Given the description of an element on the screen output the (x, y) to click on. 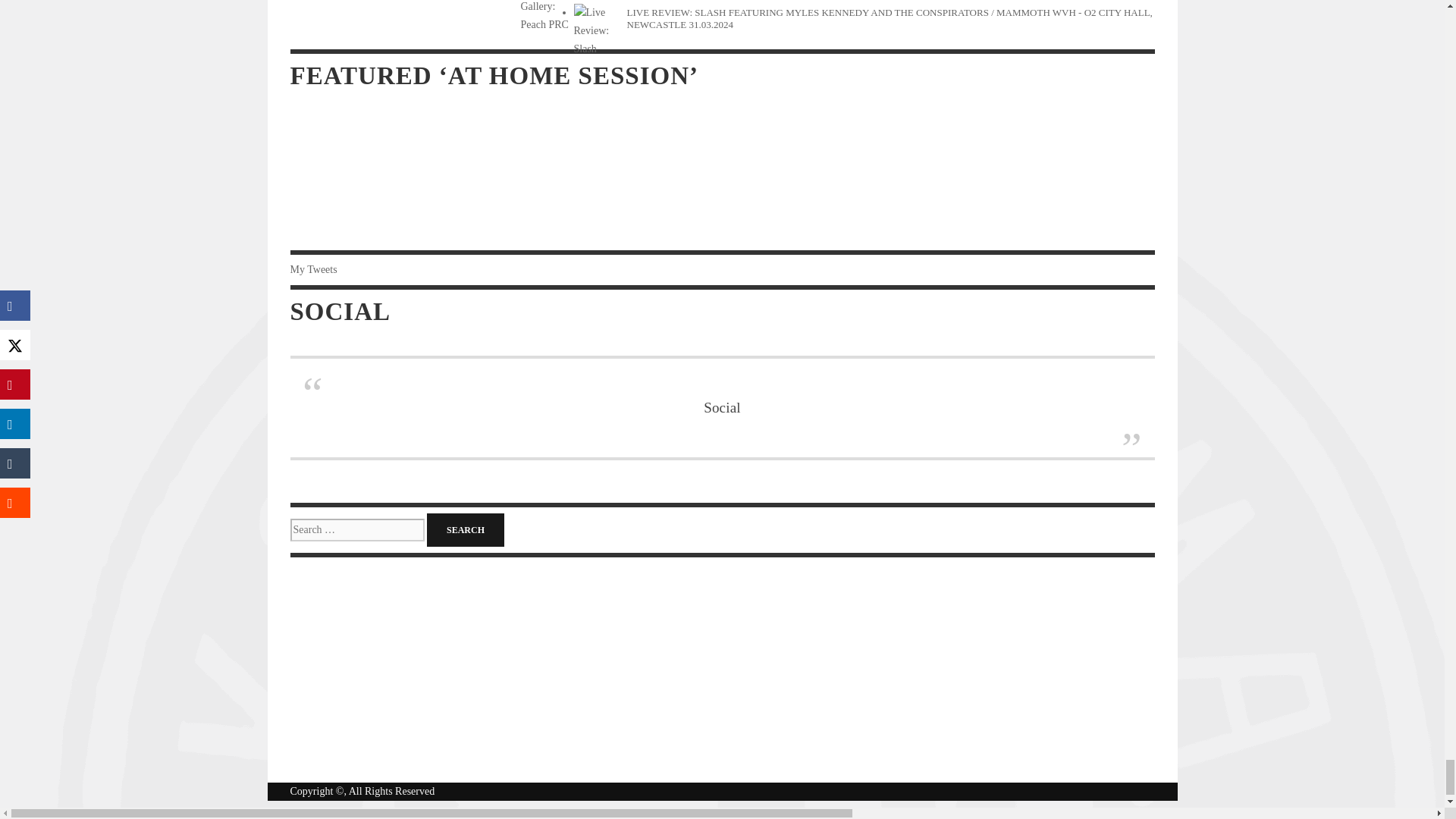
Search (464, 530)
Search (464, 530)
